Given the description of an element on the screen output the (x, y) to click on. 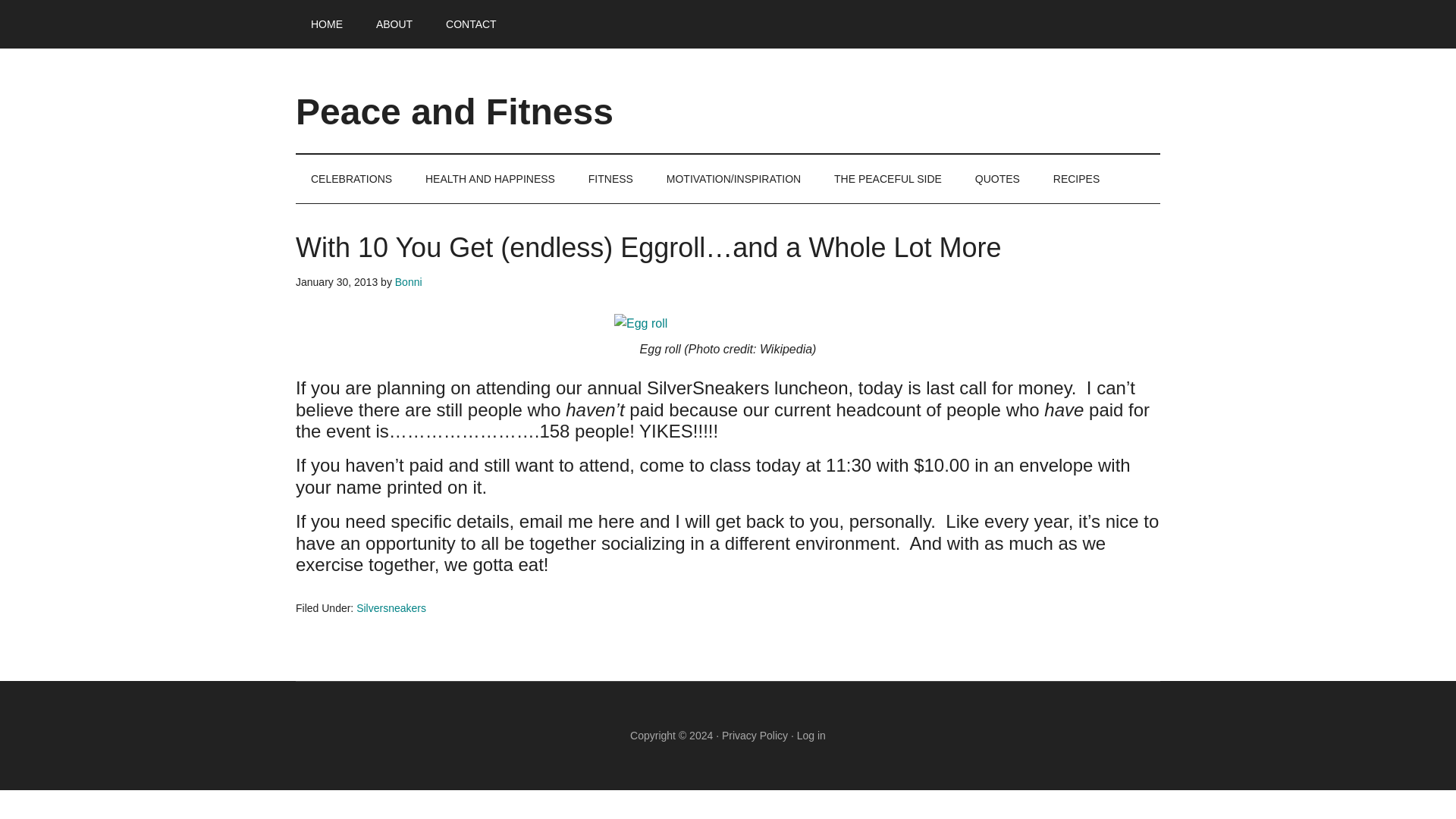
CONTACT (471, 24)
Egg roll (640, 323)
QUOTES (997, 178)
Silversneakers (391, 607)
Privacy Policy (754, 735)
FITNESS (610, 178)
ABOUT (394, 24)
HEALTH AND HAPPINESS (490, 178)
Peace and Fitness (453, 111)
Log in (810, 735)
RECIPES (1076, 178)
HOME (326, 24)
THE PEACEFUL SIDE (887, 178)
CELEBRATIONS (351, 178)
